Given the description of an element on the screen output the (x, y) to click on. 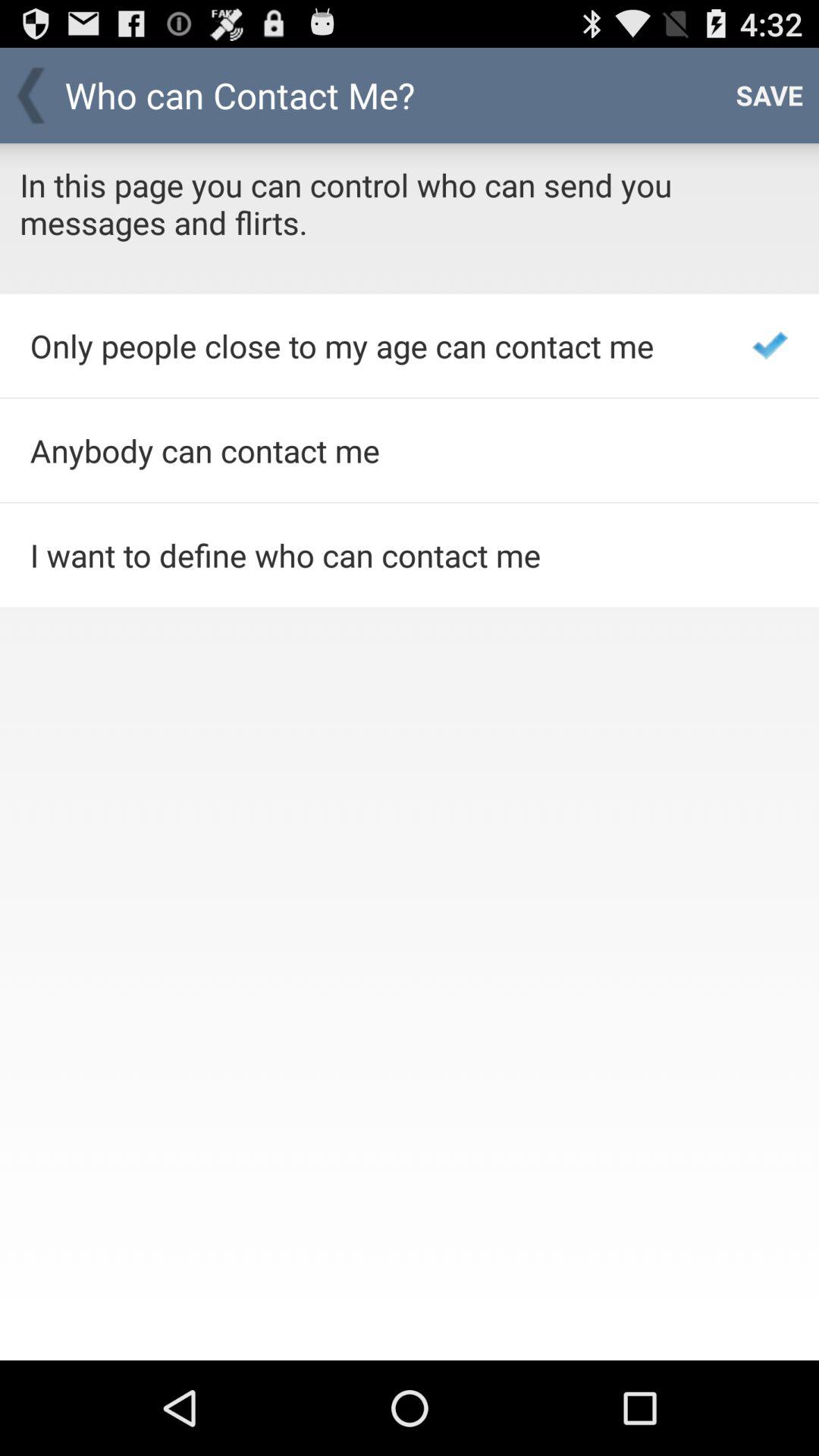
open icon below anybody can contact app (371, 554)
